Given the description of an element on the screen output the (x, y) to click on. 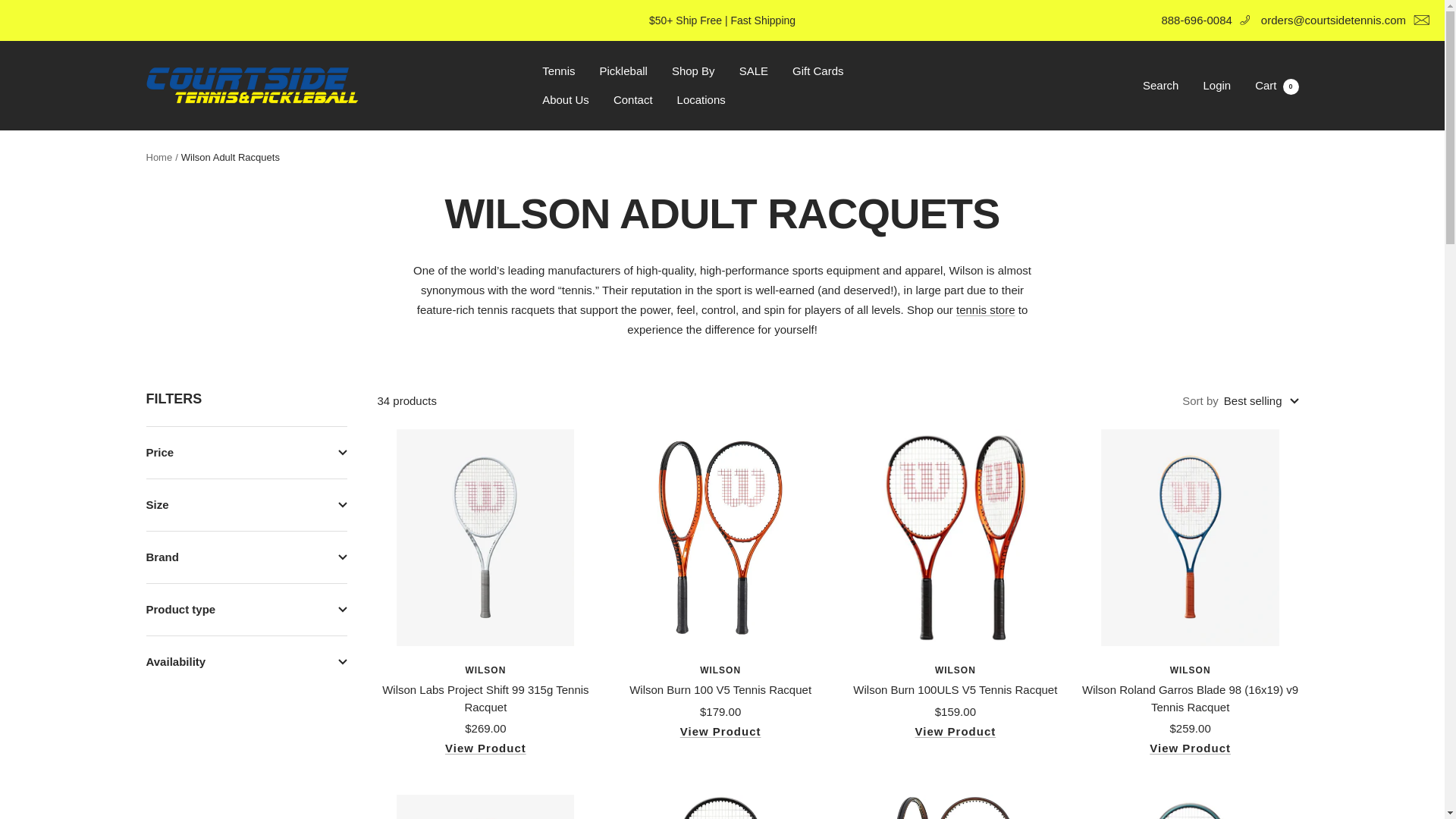
Pickleball (623, 71)
Price (245, 452)
Product type (245, 609)
Locations (701, 99)
About Us (565, 99)
Gift Cards (818, 71)
tennis store (985, 309)
Availability (245, 661)
SALE (753, 71)
Tennis (1276, 84)
Size (558, 71)
Brand (245, 504)
Shop By (245, 557)
Best selling (692, 71)
